Given the description of an element on the screen output the (x, y) to click on. 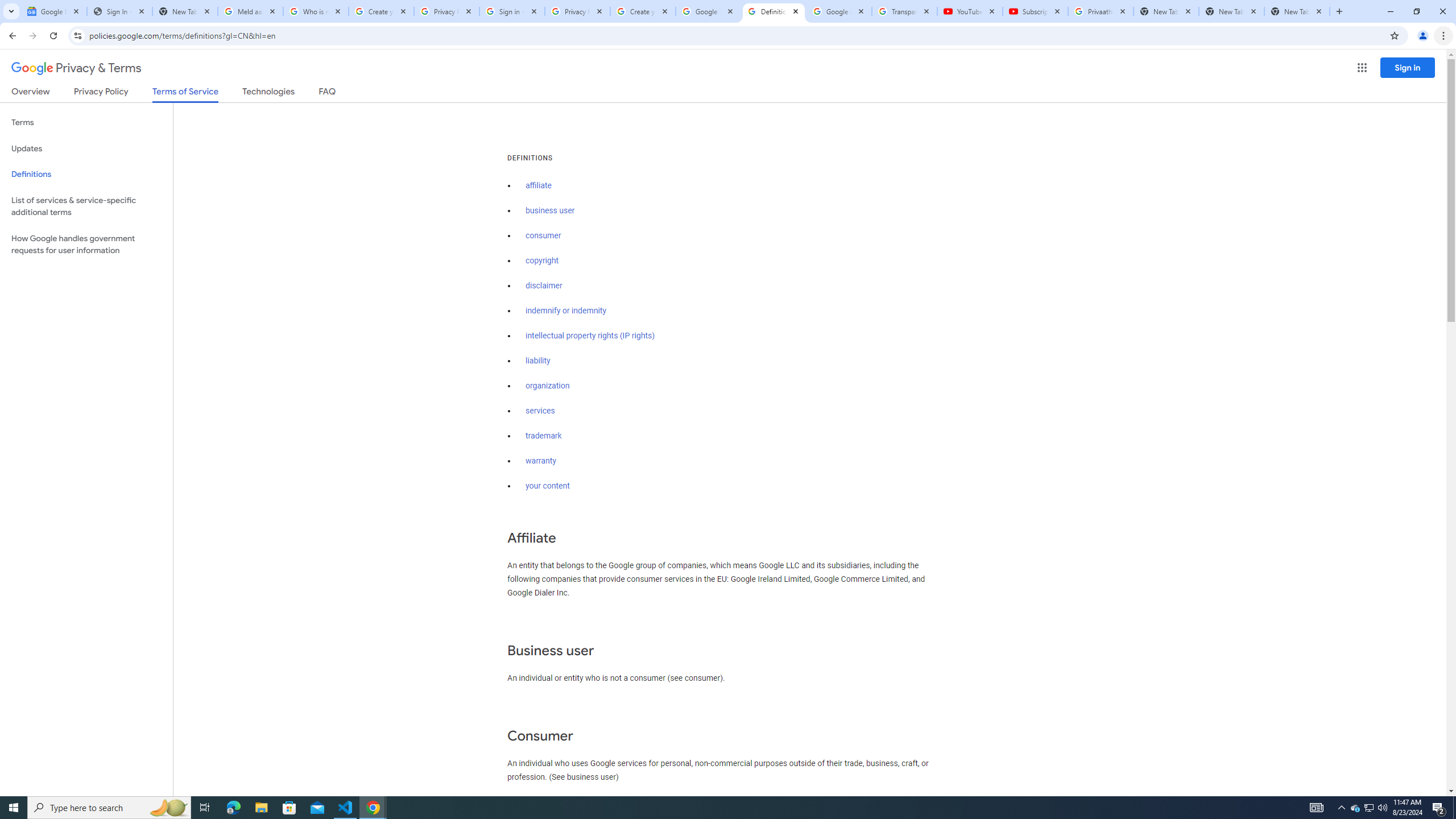
disclaimer (543, 285)
consumer (543, 235)
business user (550, 210)
services (539, 411)
affiliate (538, 185)
indemnify or indemnity (565, 311)
